Given the description of an element on the screen output the (x, y) to click on. 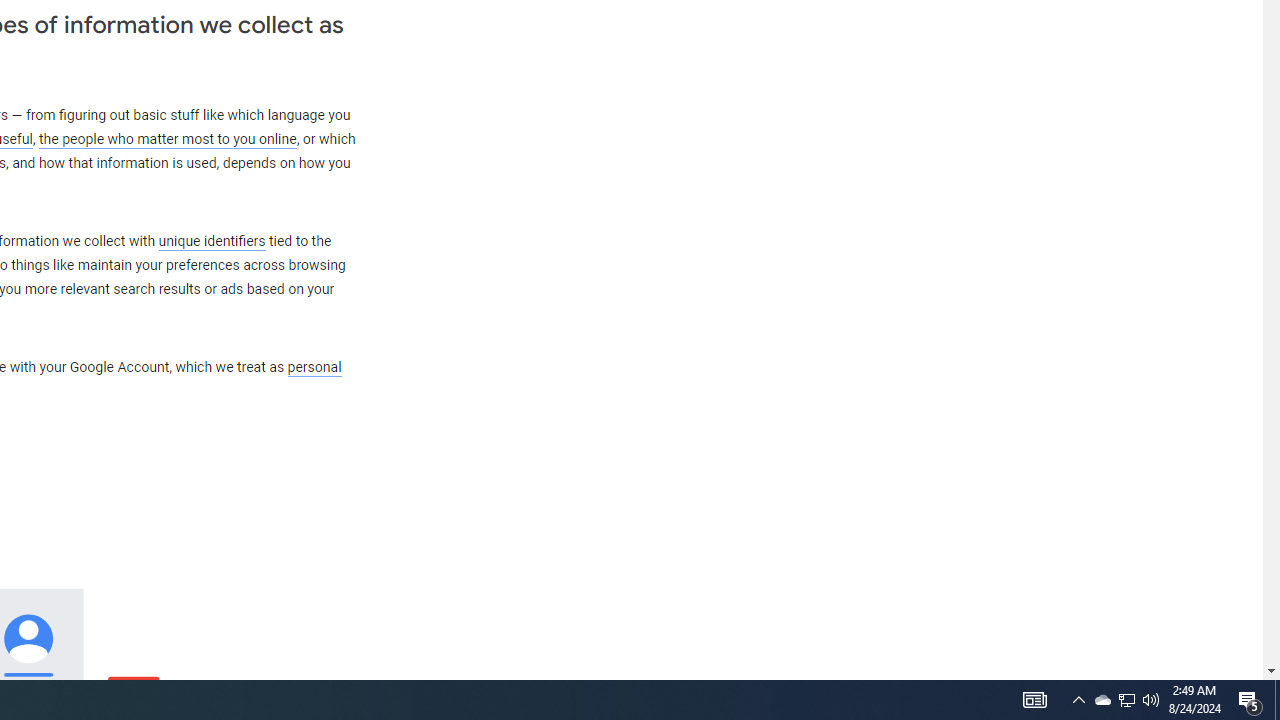
the people who matter most to you online (167, 139)
unique identifiers (211, 241)
